Given the description of an element on the screen output the (x, y) to click on. 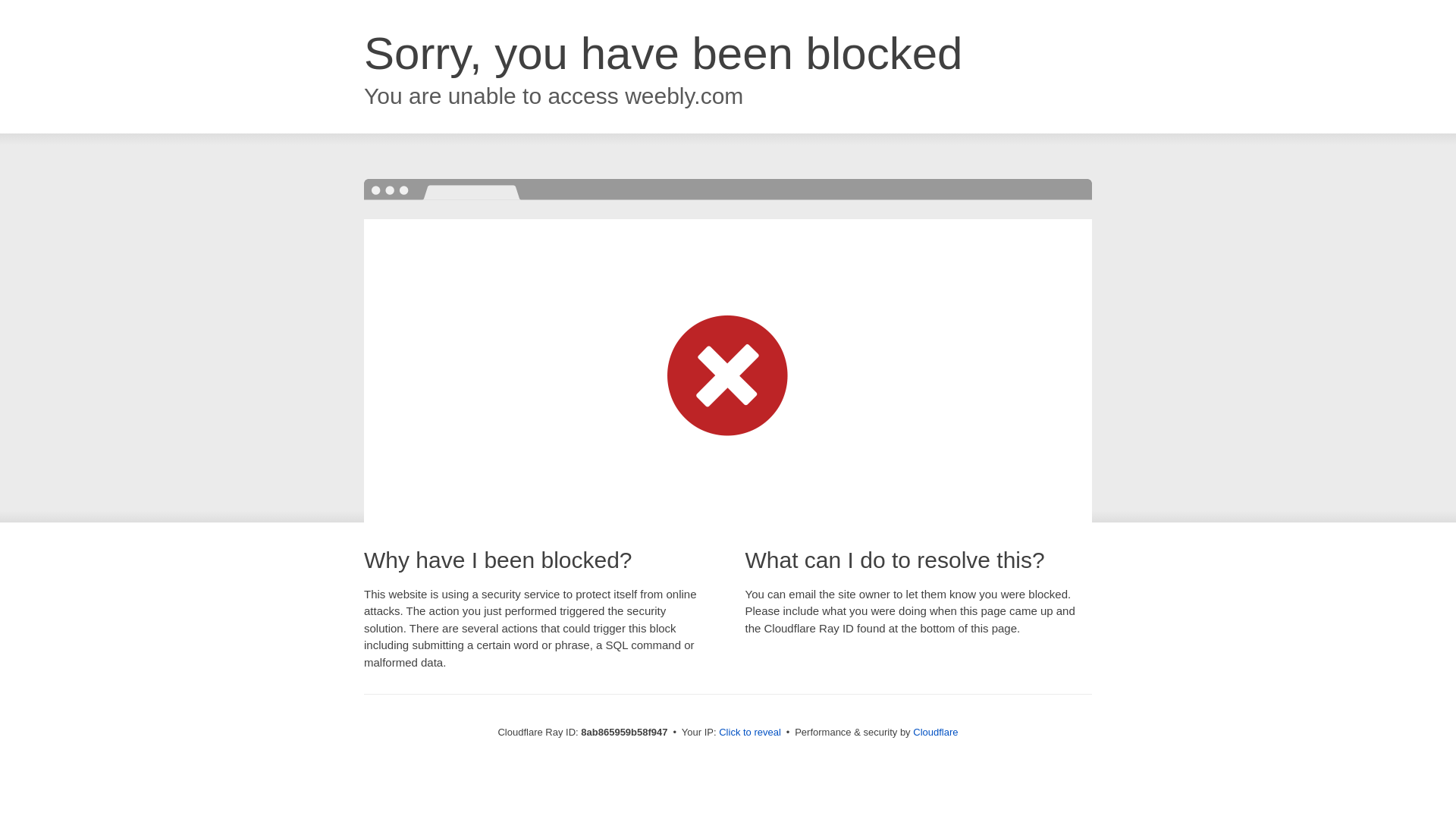
Click to reveal (749, 732)
Cloudflare (935, 731)
